Given the description of an element on the screen output the (x, y) to click on. 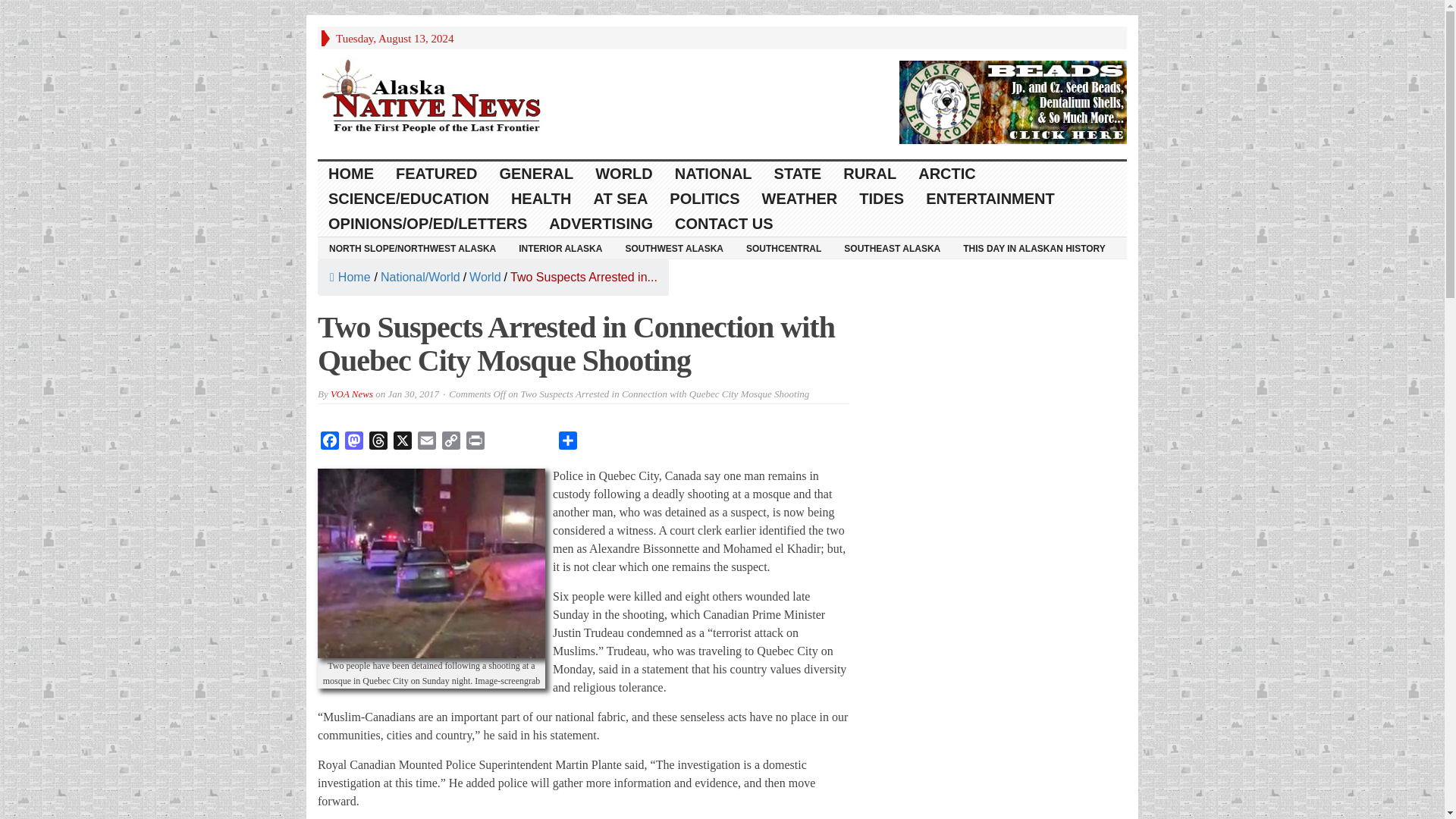
ENTERTAINMENT (990, 198)
VOA News (351, 393)
RURAL (869, 173)
World (484, 277)
CONTACT US (723, 223)
AT SEA (620, 198)
INTERIOR ALASKA (559, 247)
Email (426, 443)
POLITICS (705, 198)
THIS DAY IN ALASKAN HISTORY (1034, 247)
